Given the description of an element on the screen output the (x, y) to click on. 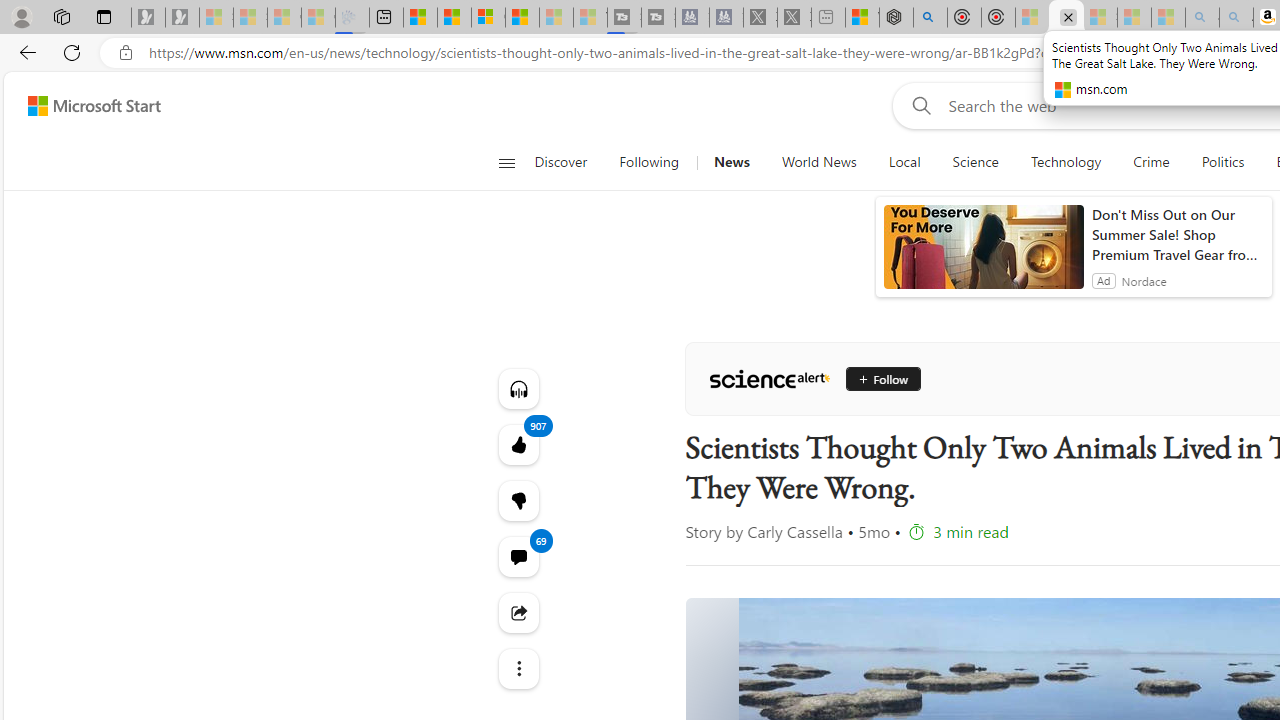
More like this907Fewer like thisView comments (517, 500)
Newsletter Sign Up - Sleeping (182, 17)
Politics (1222, 162)
Crime (1150, 162)
Listen to this article (517, 388)
Share this story (517, 612)
Amazon Echo Dot PNG - Search Images - Sleeping (1236, 17)
ScienceAlert (769, 378)
poe - Search (930, 17)
